Given the description of an element on the screen output the (x, y) to click on. 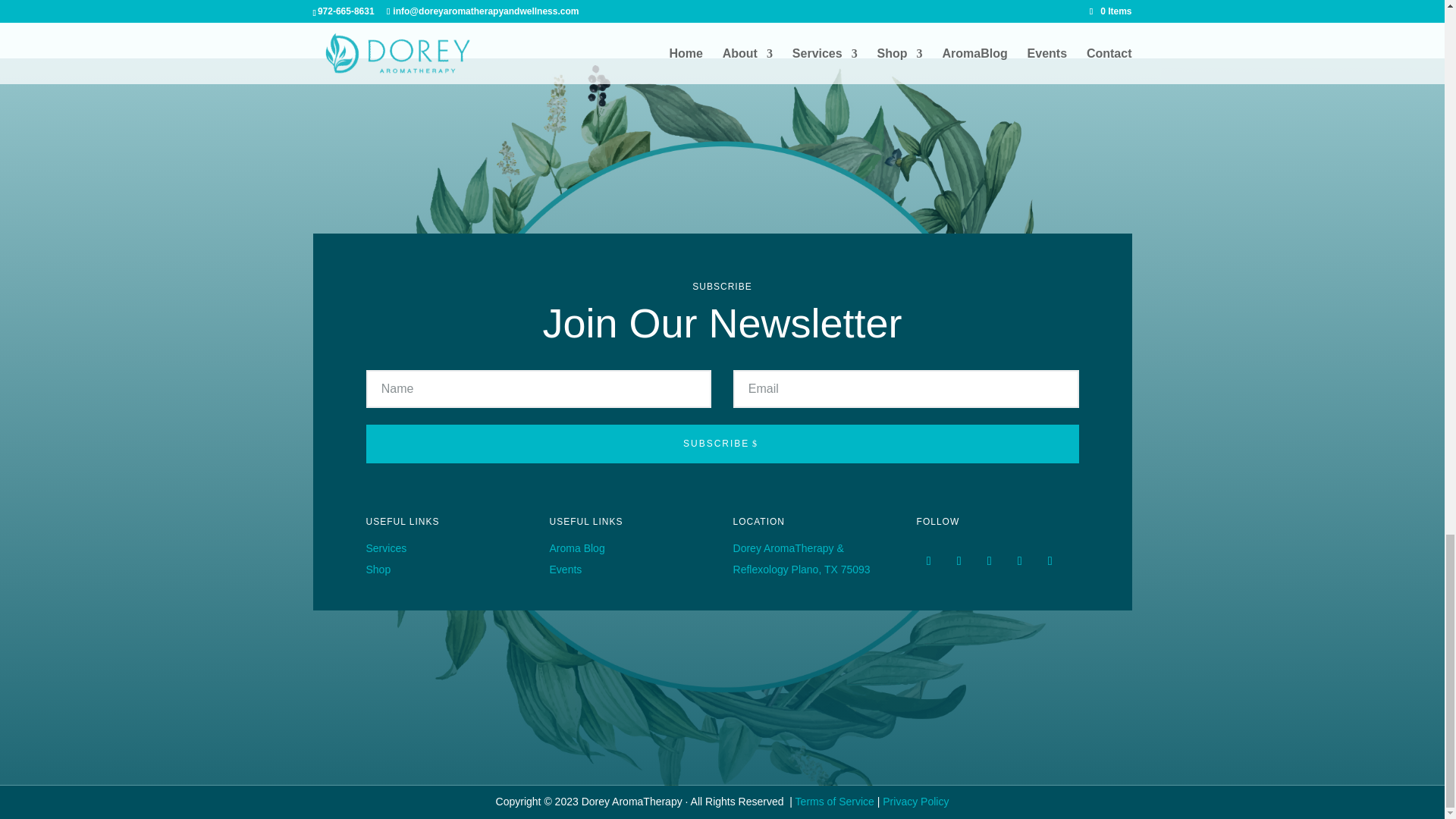
Follow on Pinterest (1019, 560)
Follow on Facebook (928, 560)
Follow on LinkedIn (1050, 560)
Follow on X (959, 560)
Follow on Instagram (988, 560)
